Given the description of an element on the screen output the (x, y) to click on. 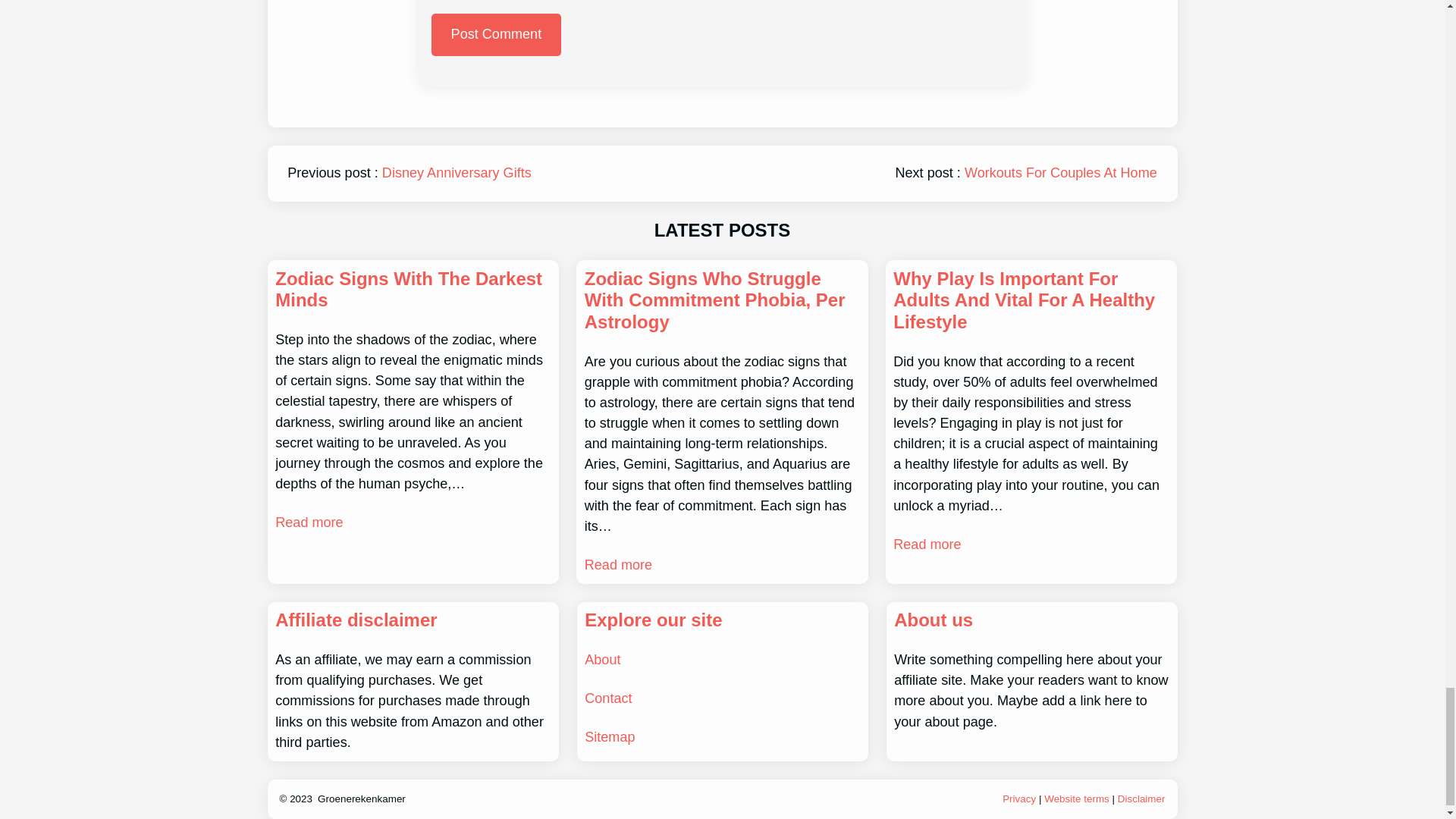
Post Comment (495, 34)
Post Comment (495, 34)
About (602, 659)
Zodiac Signs With The Darkest Minds (412, 290)
Workouts For Couples At Home (1060, 172)
Groenerekenkamer (361, 798)
Read more (618, 565)
Disclaimer (1142, 798)
